Given the description of an element on the screen output the (x, y) to click on. 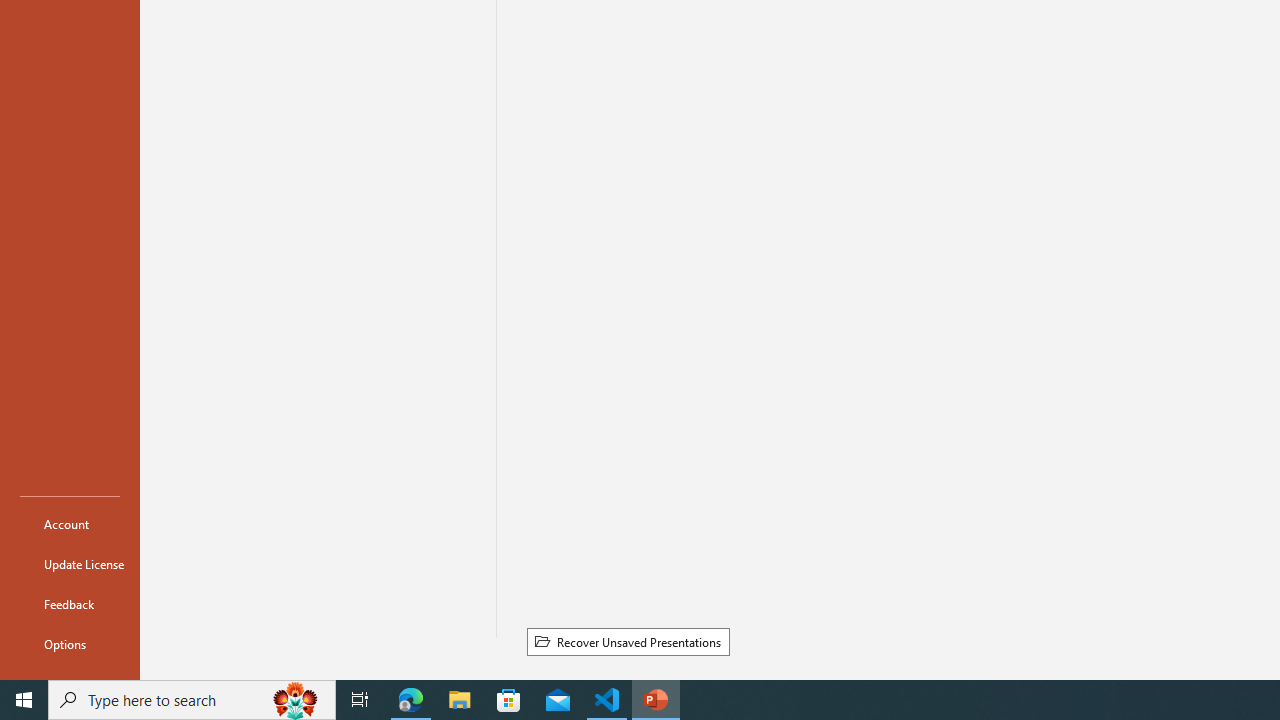
Feedback (69, 603)
Recover Unsaved Presentations (628, 641)
Update License (69, 563)
Options (69, 643)
Account (69, 523)
